Given the description of an element on the screen output the (x, y) to click on. 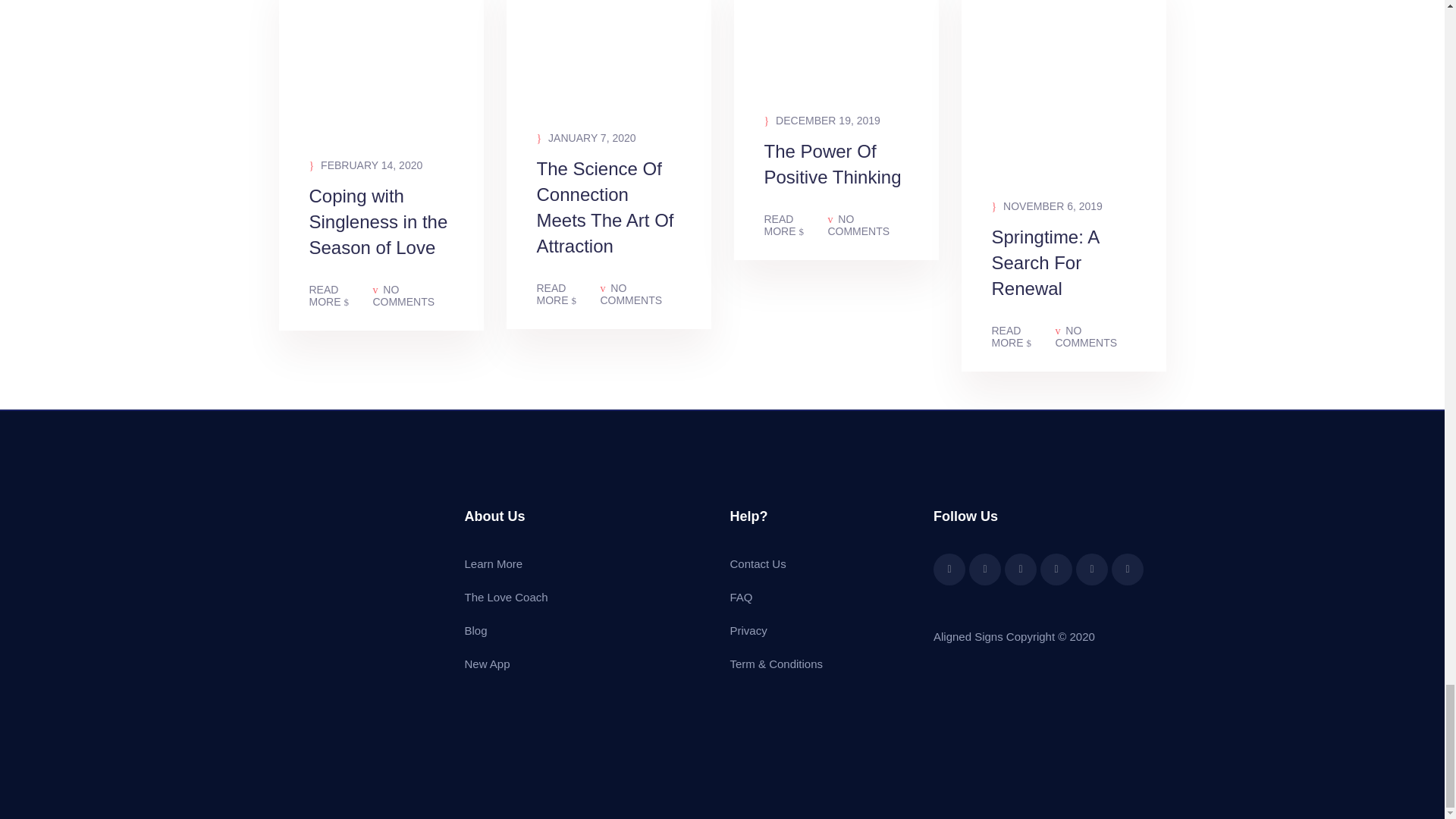
Springtime: A Search For Renewal (1063, 275)
READ MORE (796, 224)
The Power Of Positive Thinking (836, 176)
READ MORE (340, 295)
DECEMBER 19, 2019 (822, 120)
NO COMMENTS (412, 295)
Learn More (493, 563)
FEBRUARY 14, 2020 (365, 165)
READ MORE (1023, 336)
NO COMMENTS (639, 293)
